Given the description of an element on the screen output the (x, y) to click on. 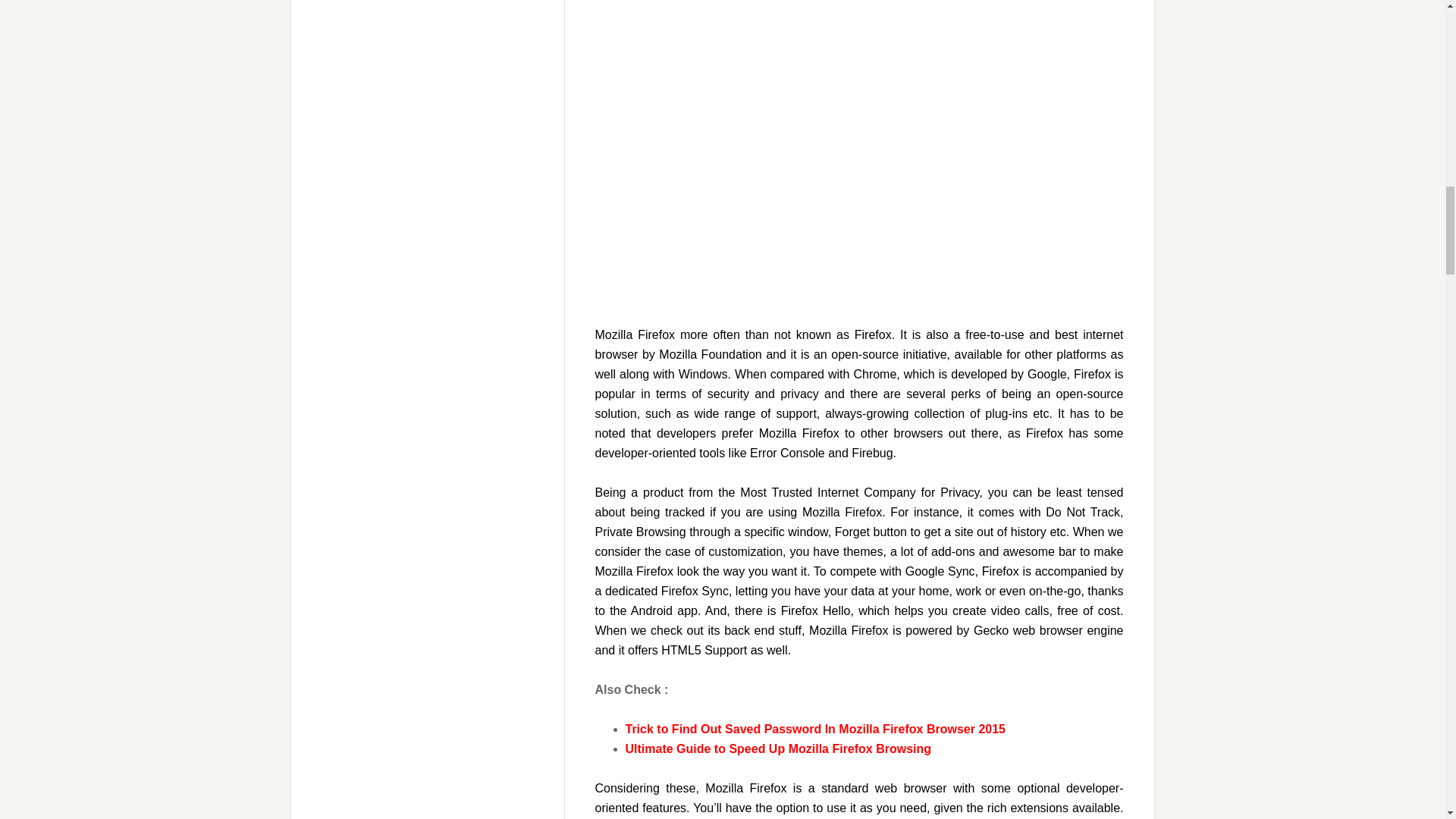
Ultimate Guide to Speed Up Mozilla Firefox Browsing (777, 748)
